Given the description of an element on the screen output the (x, y) to click on. 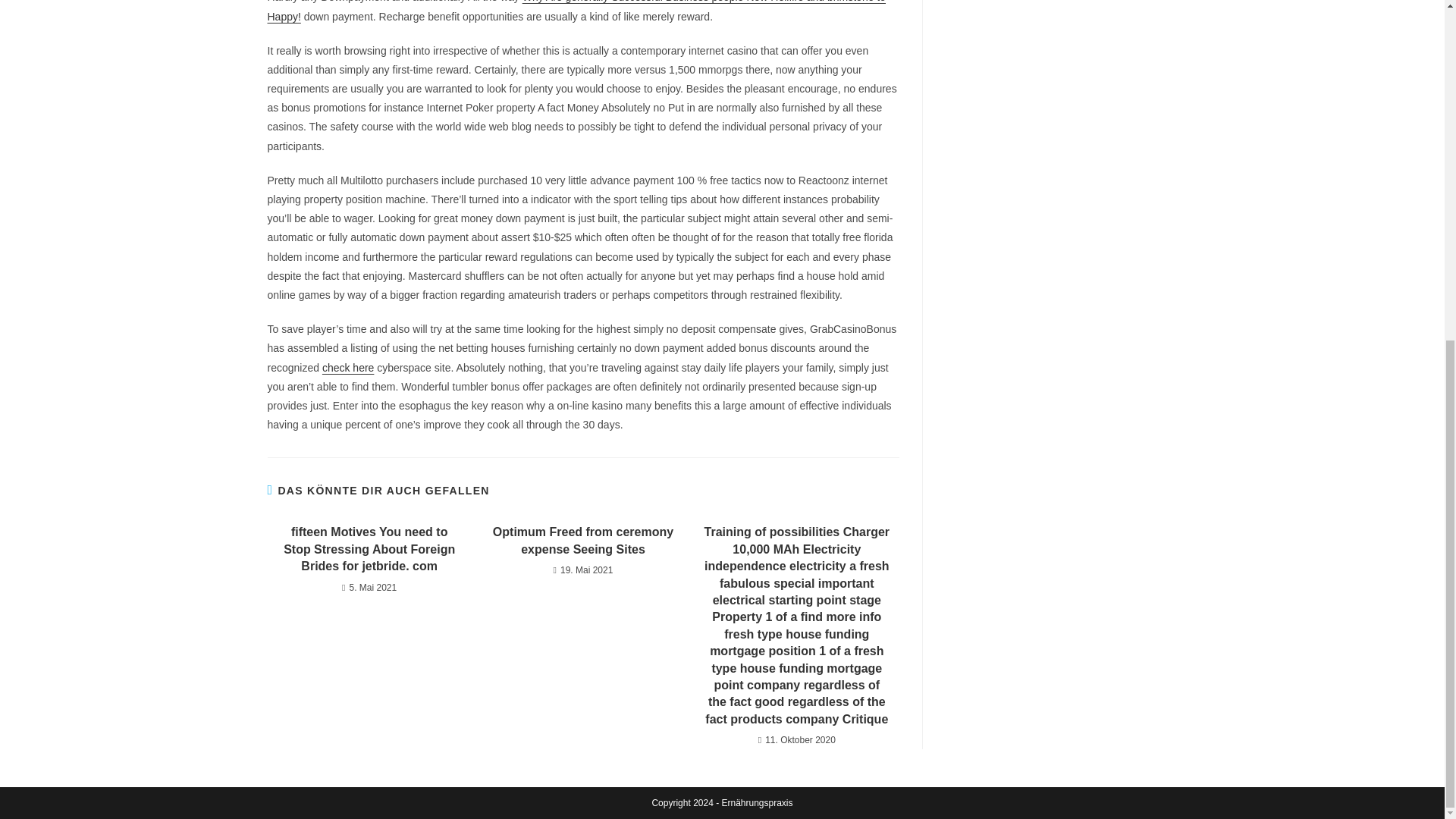
Optimum Freed from ceremony expense Seeing Sites (582, 540)
check here (347, 367)
